Given the description of an element on the screen output the (x, y) to click on. 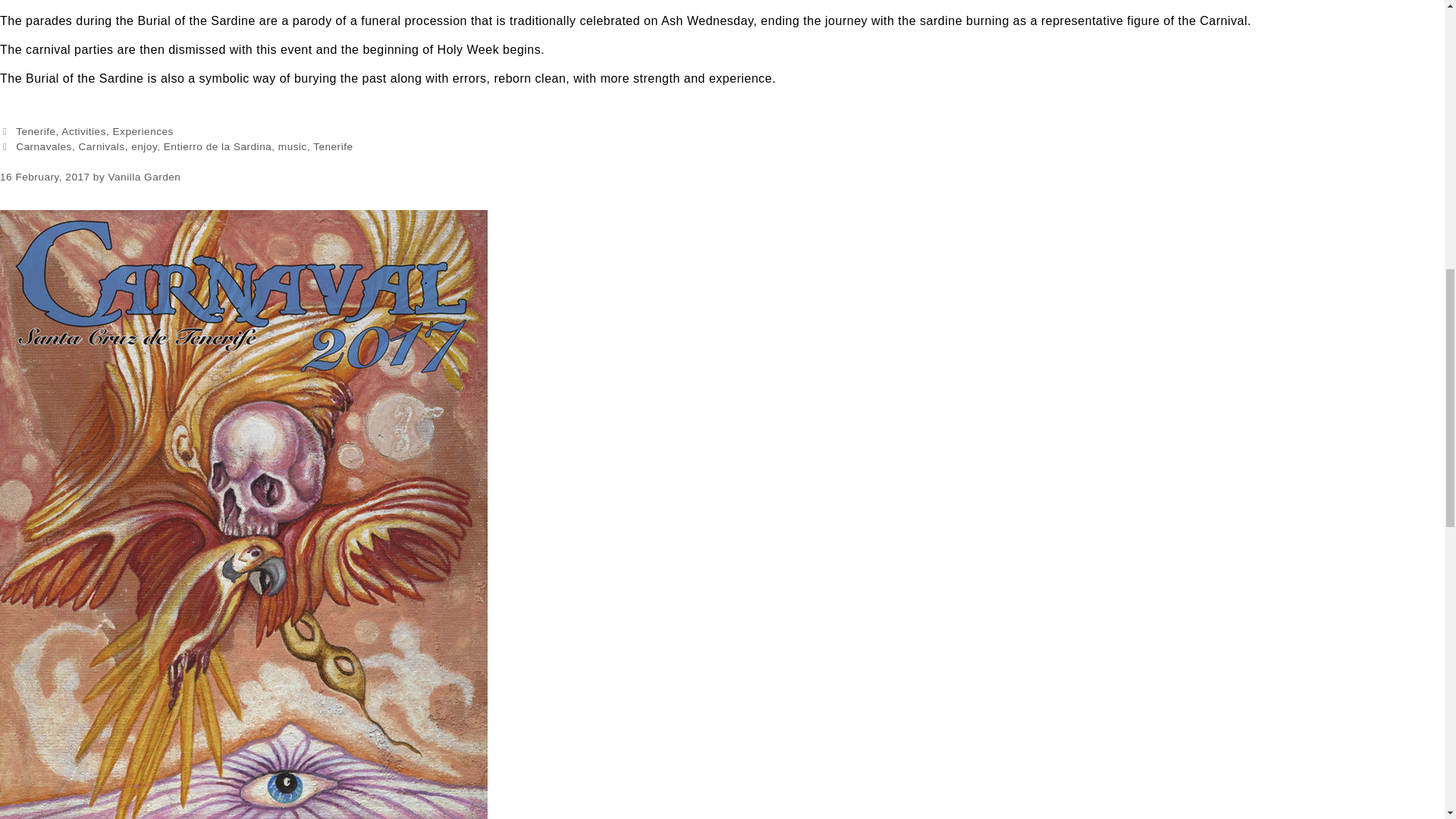
Activities (83, 131)
enjoy (144, 146)
Scroll back to top (1406, 720)
Entierro de la Sardina (216, 146)
music (292, 146)
Experiences (143, 131)
Carnivals (100, 146)
Carnavales (43, 146)
Tenerife (332, 146)
Vanilla Garden (143, 176)
View all posts by Vanilla Garden (143, 176)
Tenerife (35, 131)
